Given the description of an element on the screen output the (x, y) to click on. 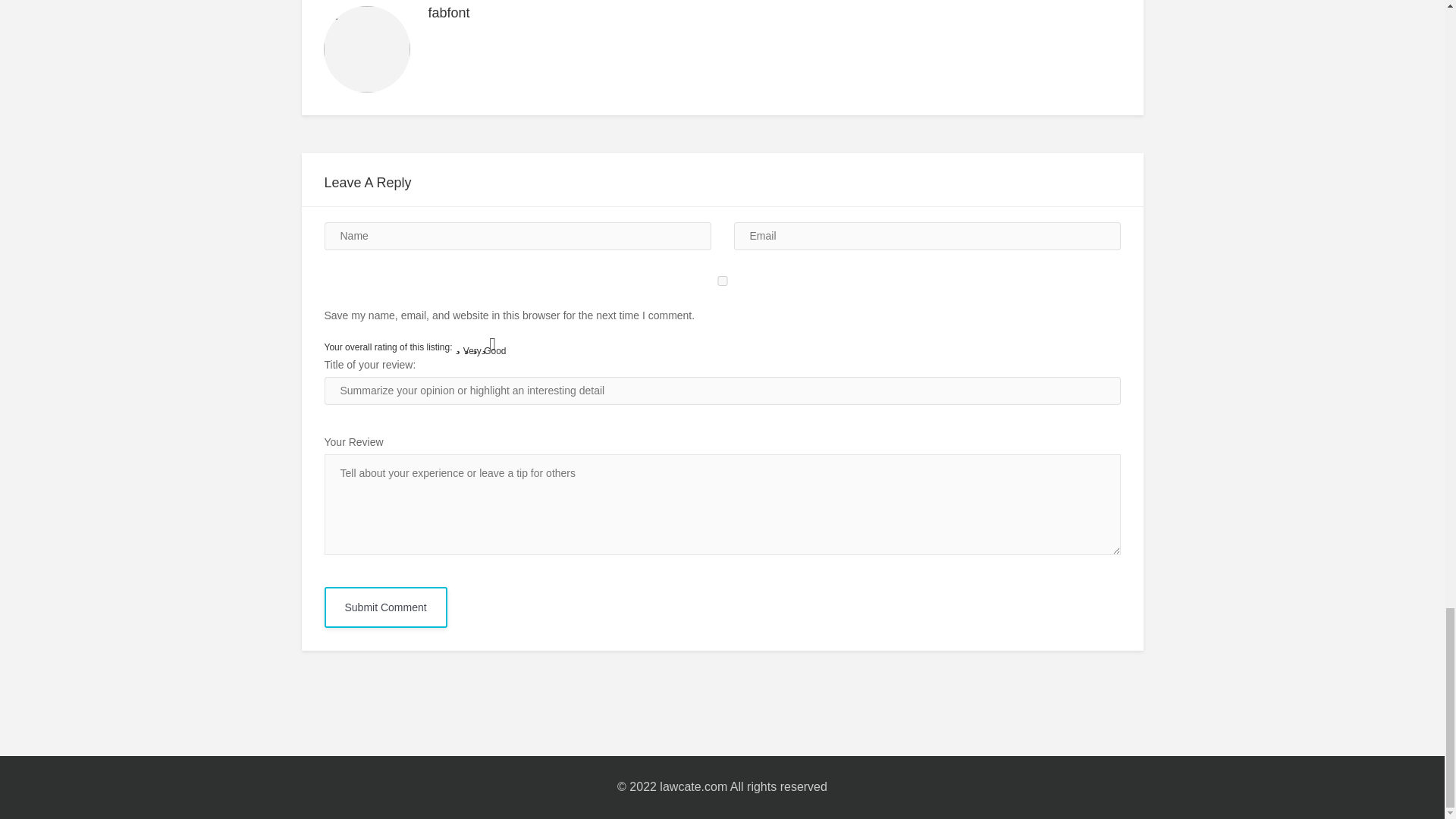
yes (722, 280)
Submit Comment (385, 607)
